Given the description of an element on the screen output the (x, y) to click on. 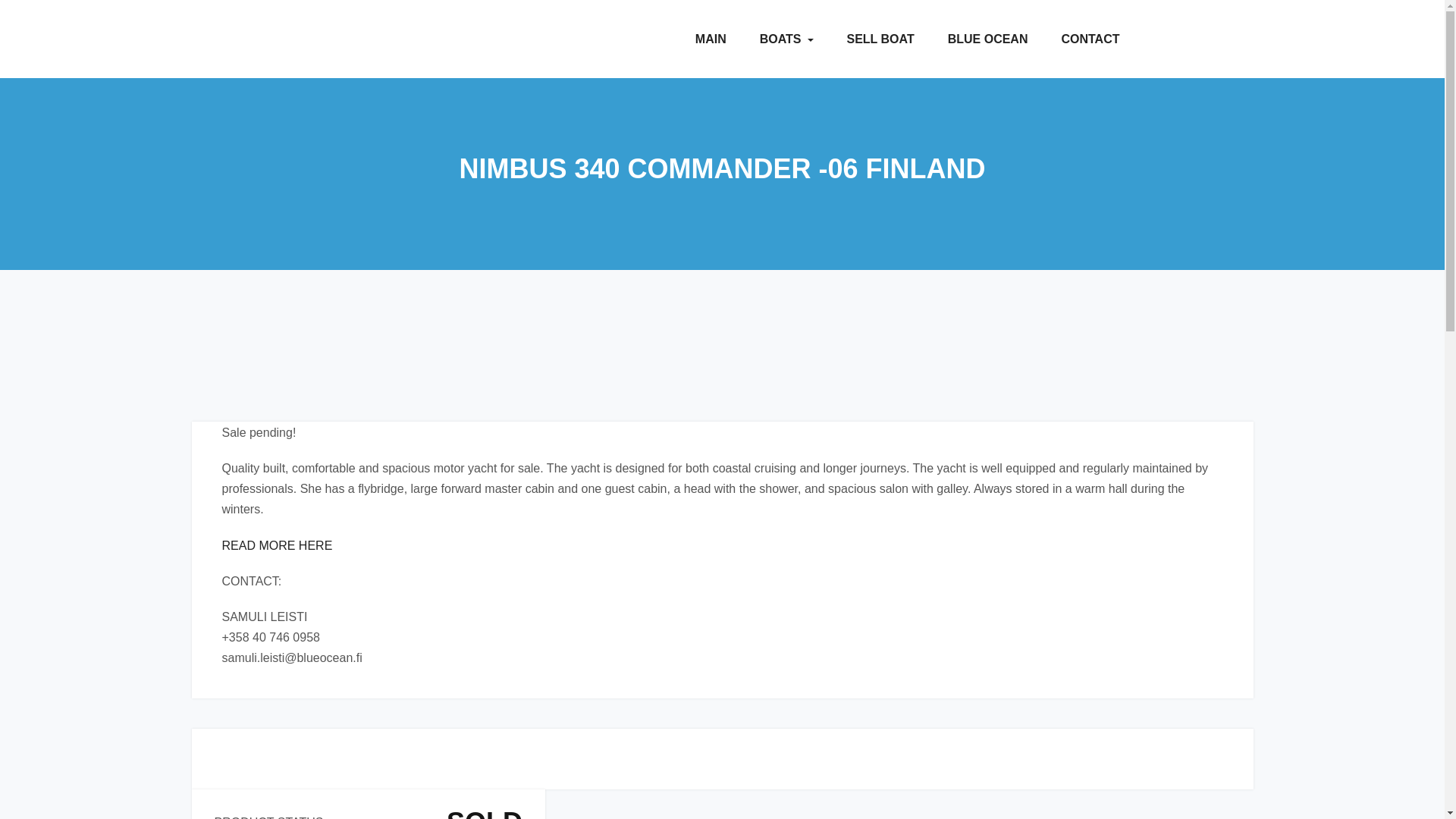
FI (1163, 39)
BOATS (785, 38)
BLUE OCEAN (988, 38)
SELL BOAT (879, 38)
EN (1218, 39)
CONTACT (1089, 38)
